Given the description of an element on the screen output the (x, y) to click on. 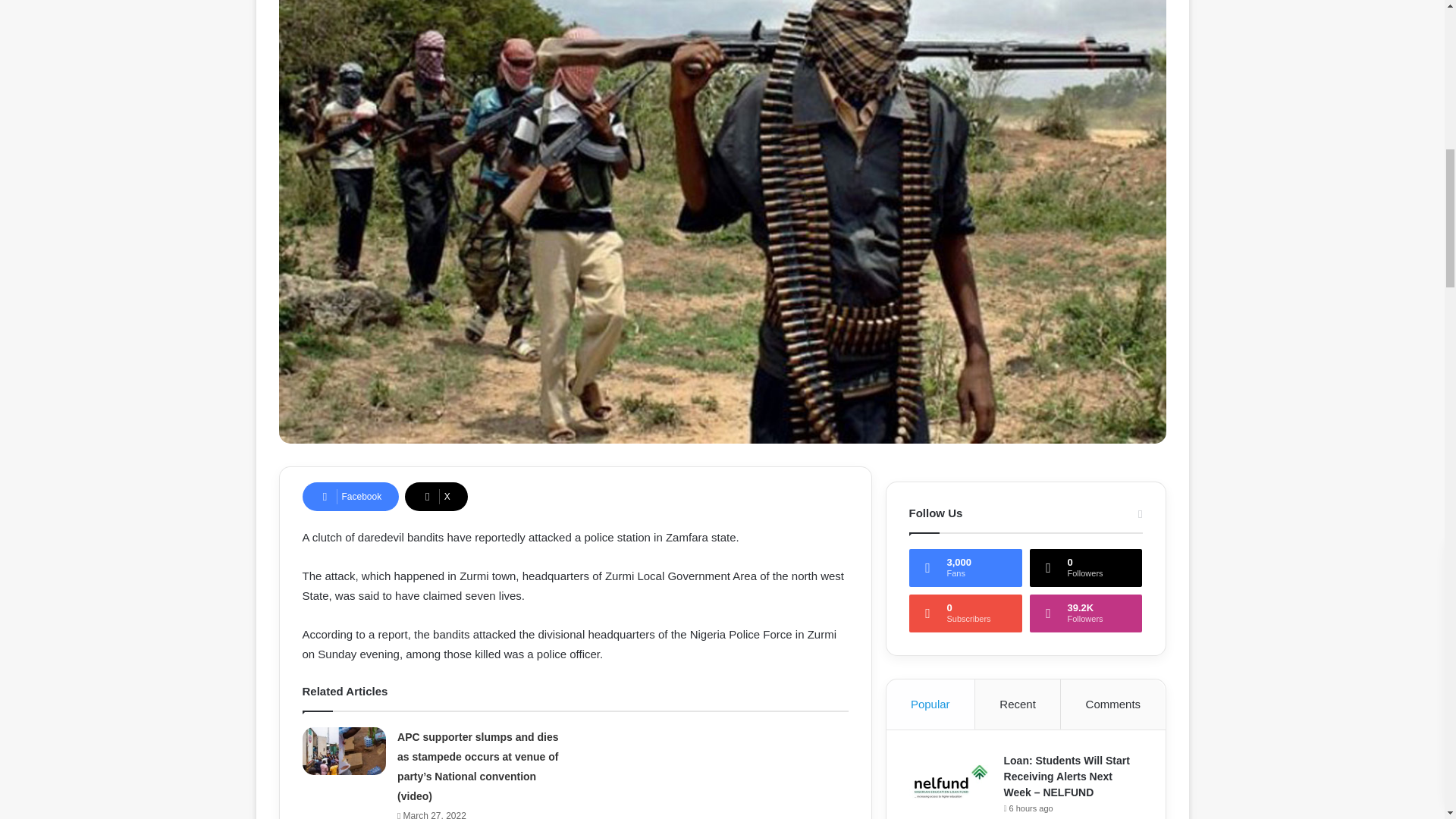
Facebook (349, 496)
X (435, 496)
X (435, 496)
Facebook (349, 496)
